Given the description of an element on the screen output the (x, y) to click on. 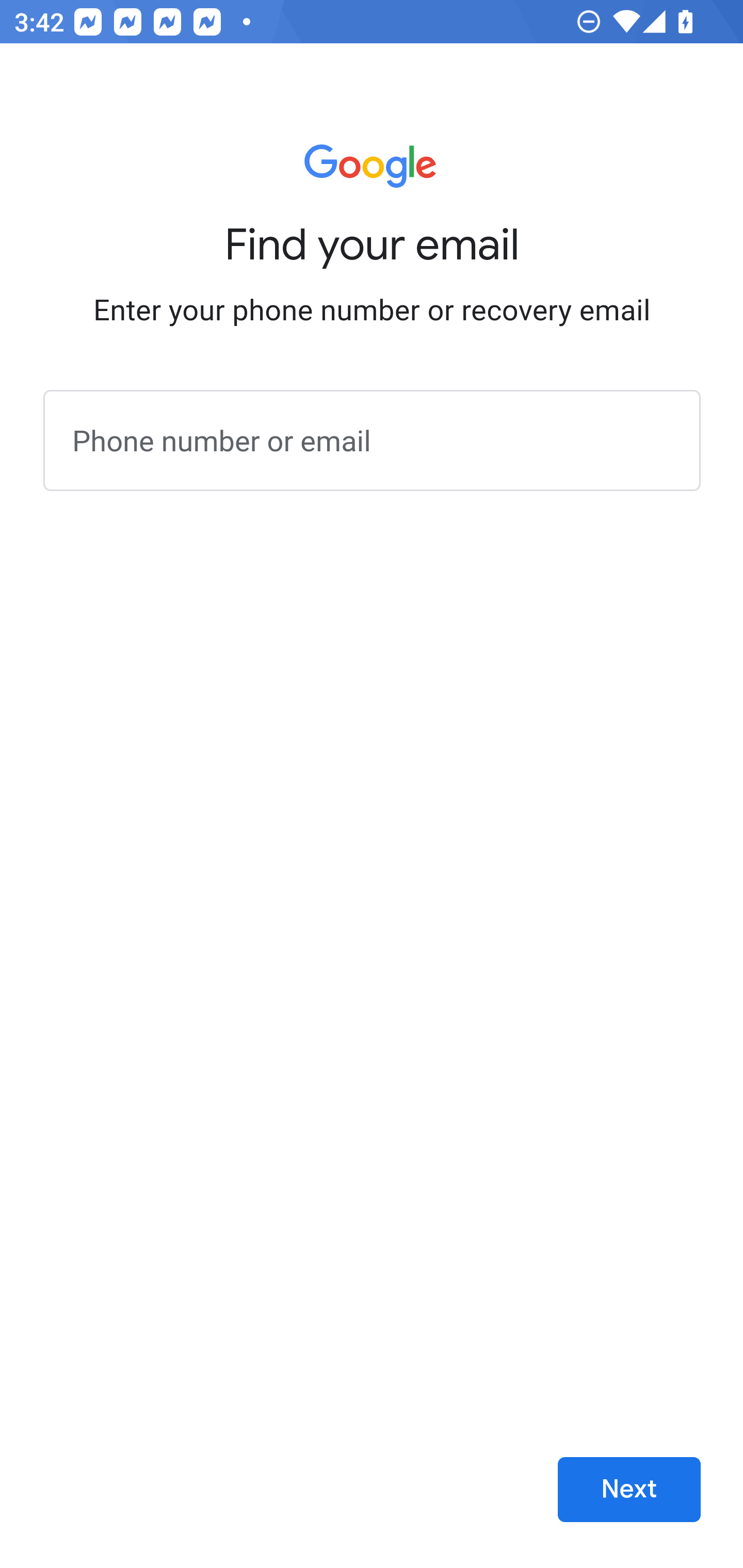
Next (629, 1490)
